Given the description of an element on the screen output the (x, y) to click on. 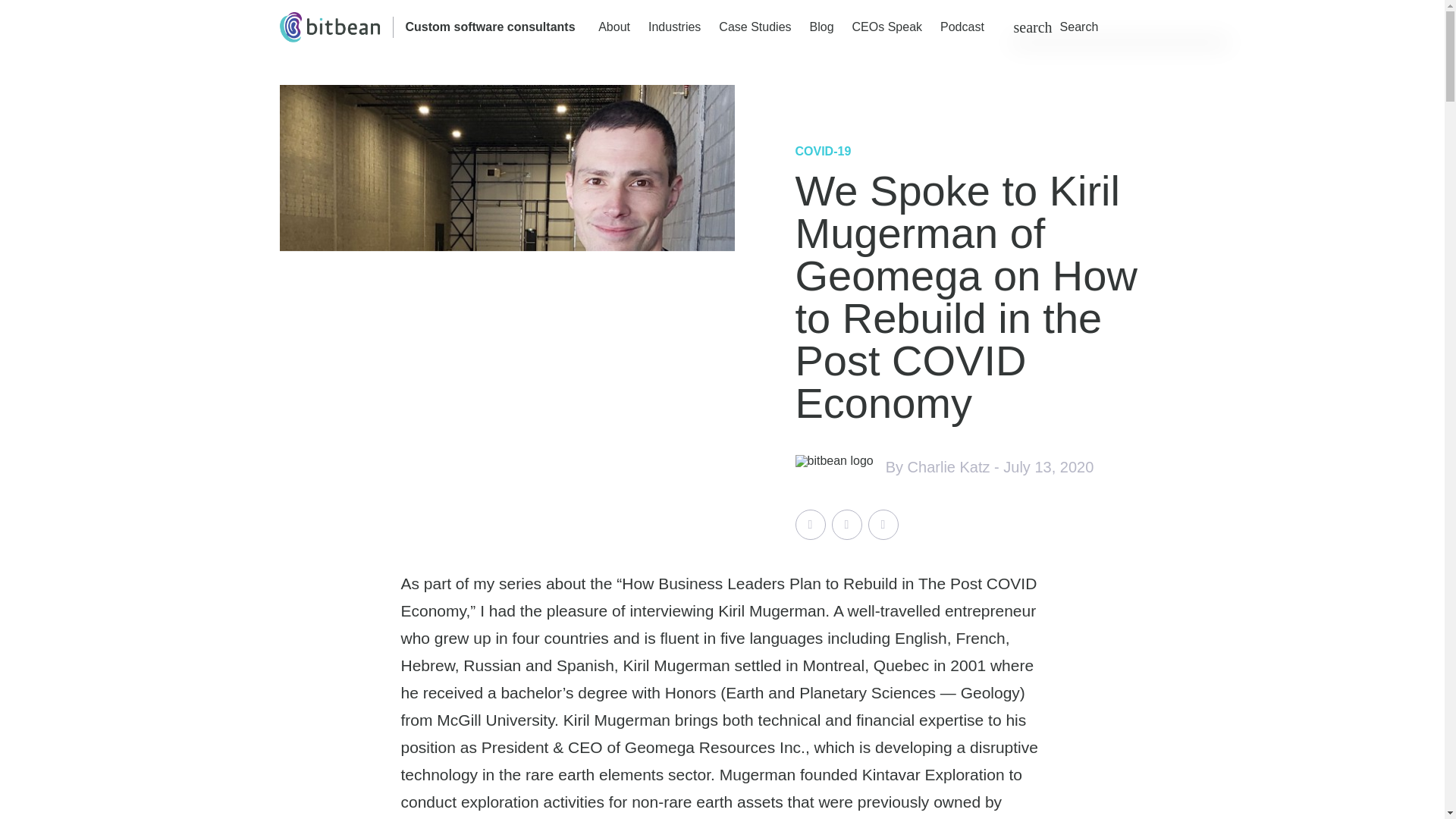
Case Studies (754, 26)
Share on Facebook (846, 524)
Custom software consultants (490, 26)
Podcast (962, 26)
About (614, 26)
Blog (821, 26)
Share via Email (882, 524)
CEOs Speak (886, 26)
Share on Twitter (809, 524)
Charlie Katz (948, 466)
